Given the description of an element on the screen output the (x, y) to click on. 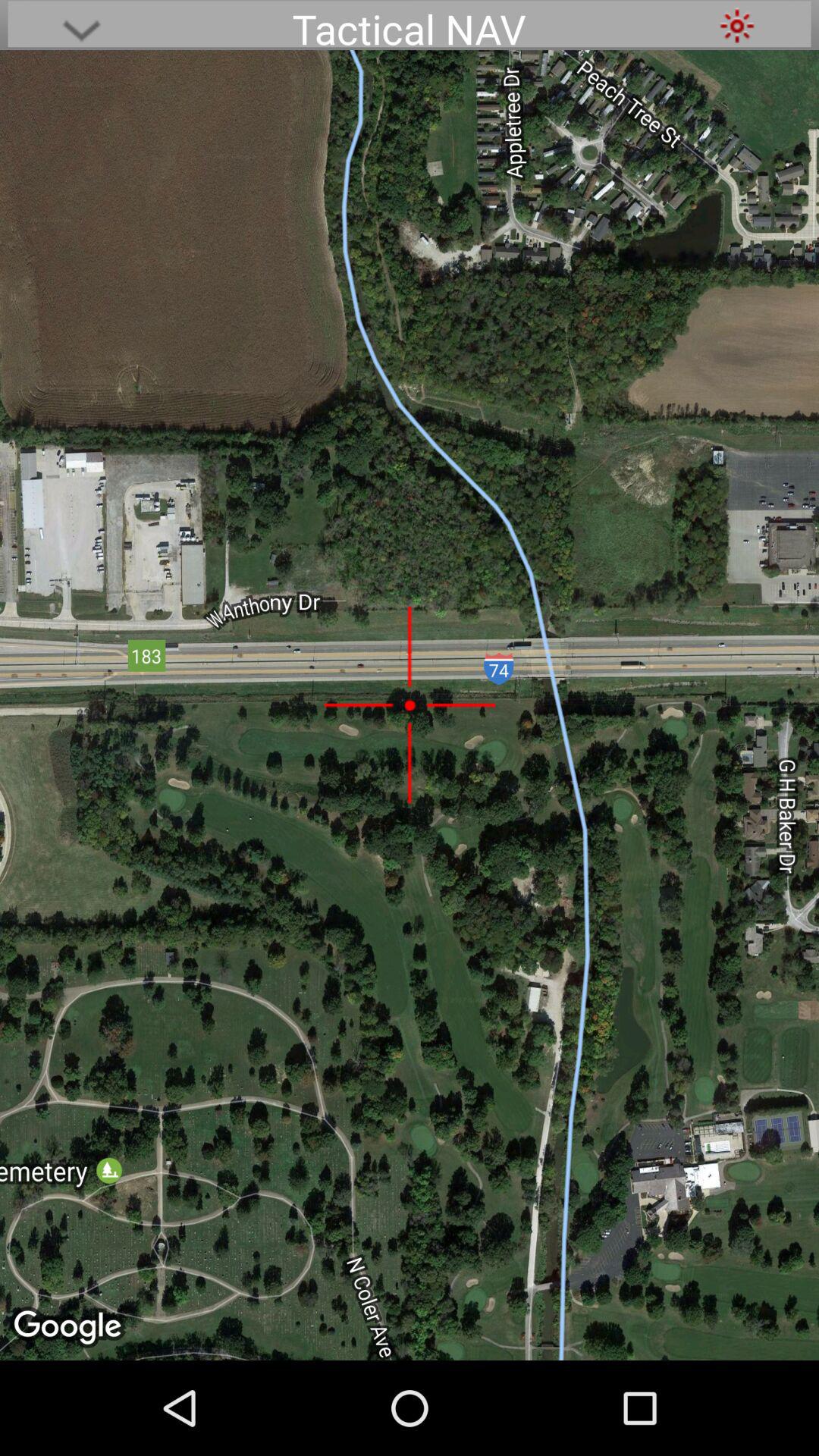
click dropdown (81, 25)
